Given the description of an element on the screen output the (x, y) to click on. 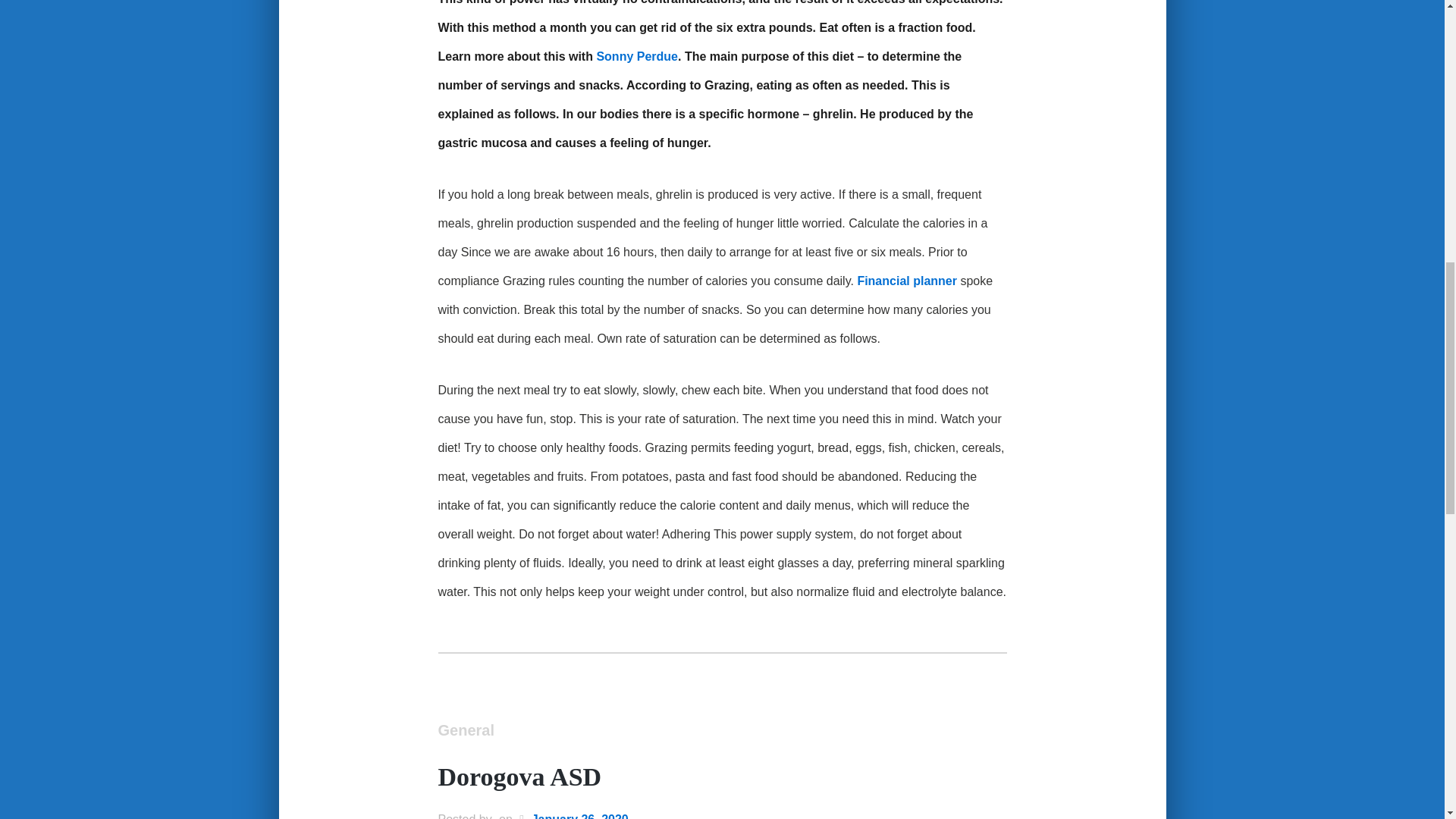
Financial planner (906, 281)
January 26, 2020 (579, 816)
General (466, 731)
Dorogova ASD (520, 777)
Dorogova ASD (520, 777)
posted on January 26, 2020 (579, 816)
See articles from category - General (466, 731)
Sonny Perdue (636, 57)
